Given the description of an element on the screen output the (x, y) to click on. 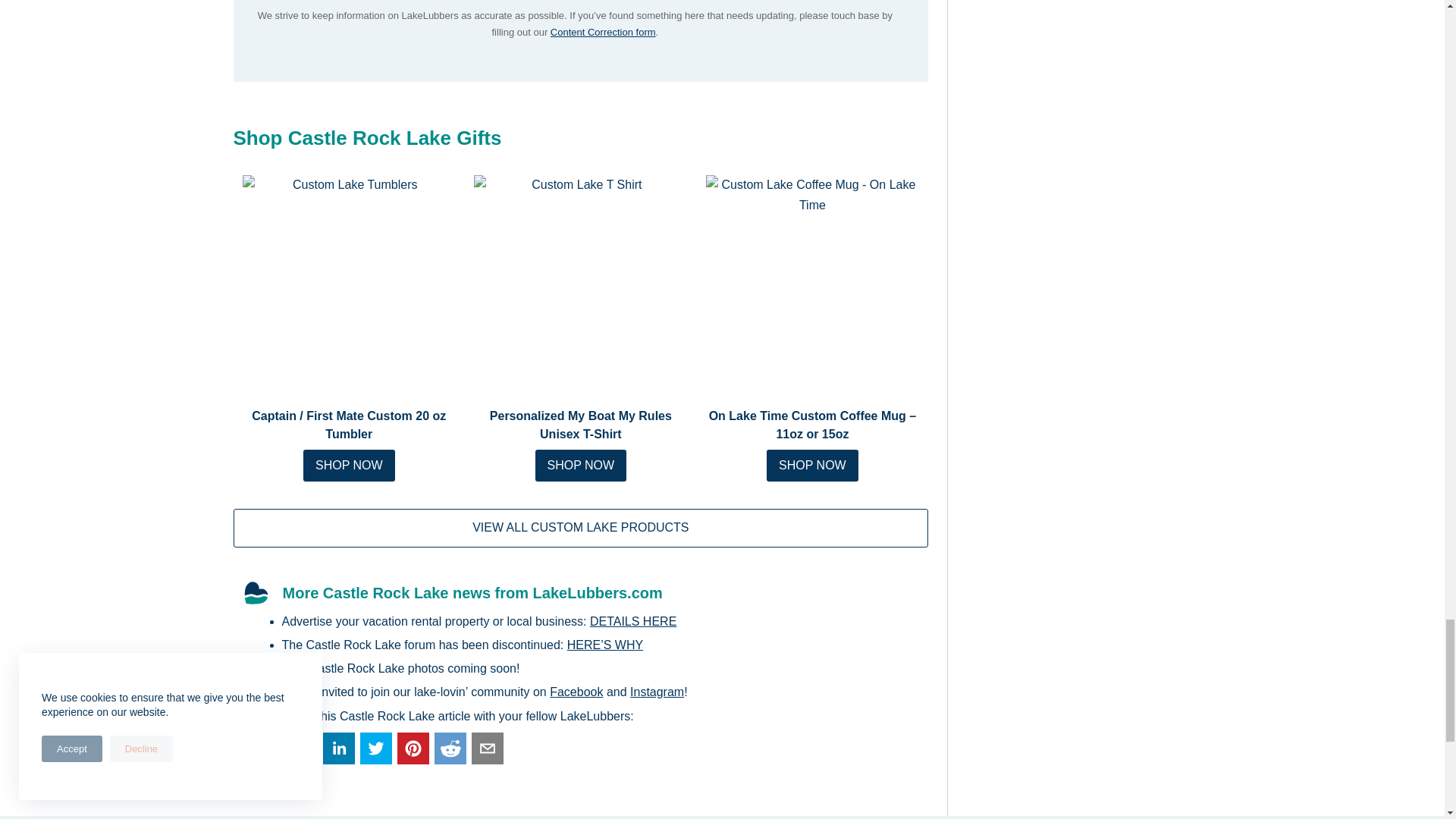
Custom Lake Coffee Mug - On Lake Time (813, 465)
Custom Lake Shirt - My Boat My Rules (580, 282)
Custom Lake Coffee Mug - On Lake Time (813, 282)
Custom Lake Tumbler - Captain or First Mate (350, 282)
Custom Lake Products (580, 527)
Custom Lake Tumbler - Captain or First Mate (348, 465)
Custom Lake Shirt - My Boat My Rules (581, 465)
